Given the description of an element on the screen output the (x, y) to click on. 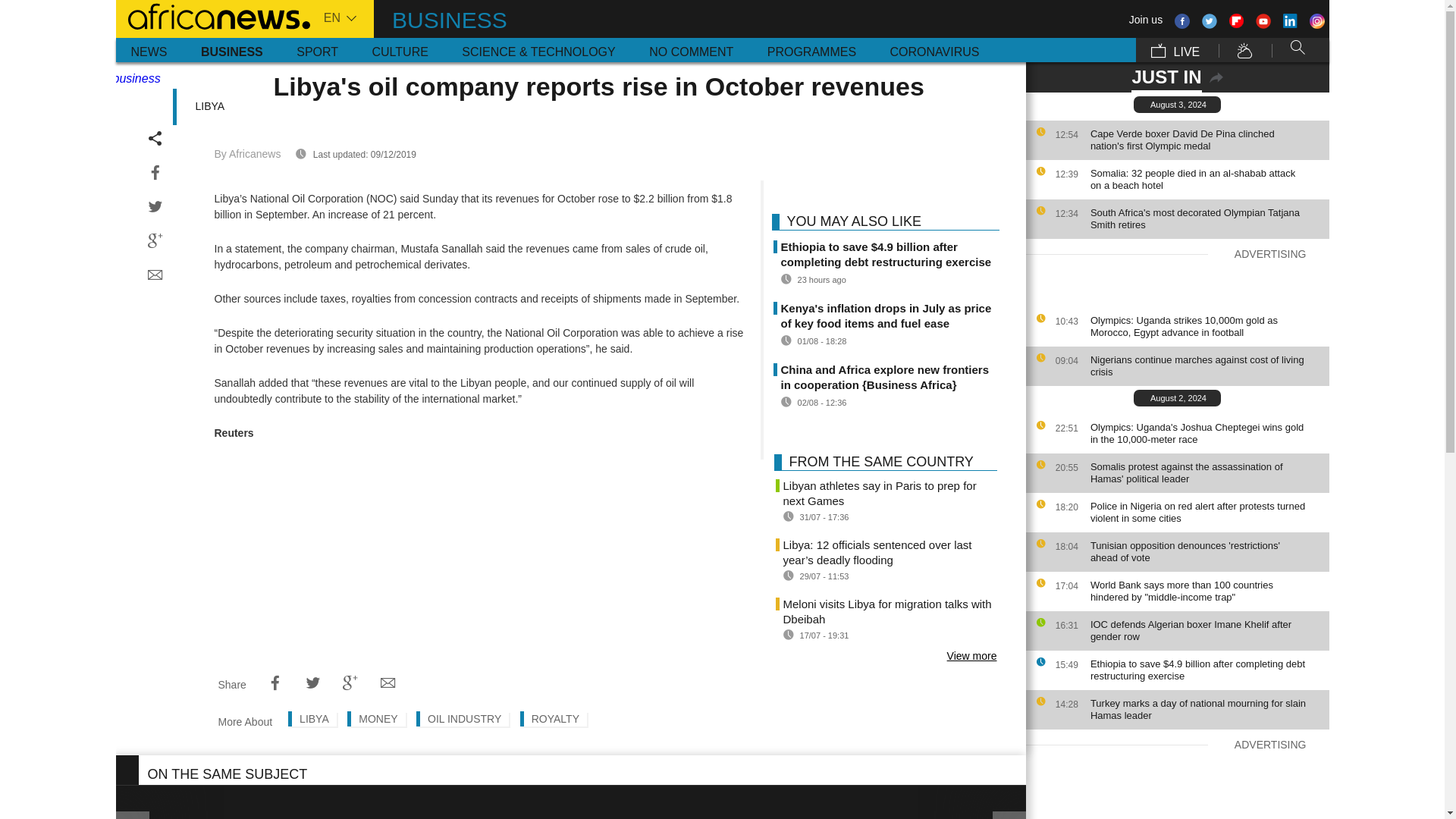
SPORT (317, 49)
LIVE (1174, 49)
News (148, 49)
Coronavirus (934, 49)
Culture (399, 49)
CORONAVIRUS (934, 49)
Nigerians continue marches against cost of living crisis (1206, 365)
CULTURE (399, 49)
PROGRAMMES (811, 49)
South Africa's most decorated Olympian Tatjana Smith retires (1206, 218)
NEWS (148, 49)
Sport (317, 49)
BUSINESS (232, 49)
